Given the description of an element on the screen output the (x, y) to click on. 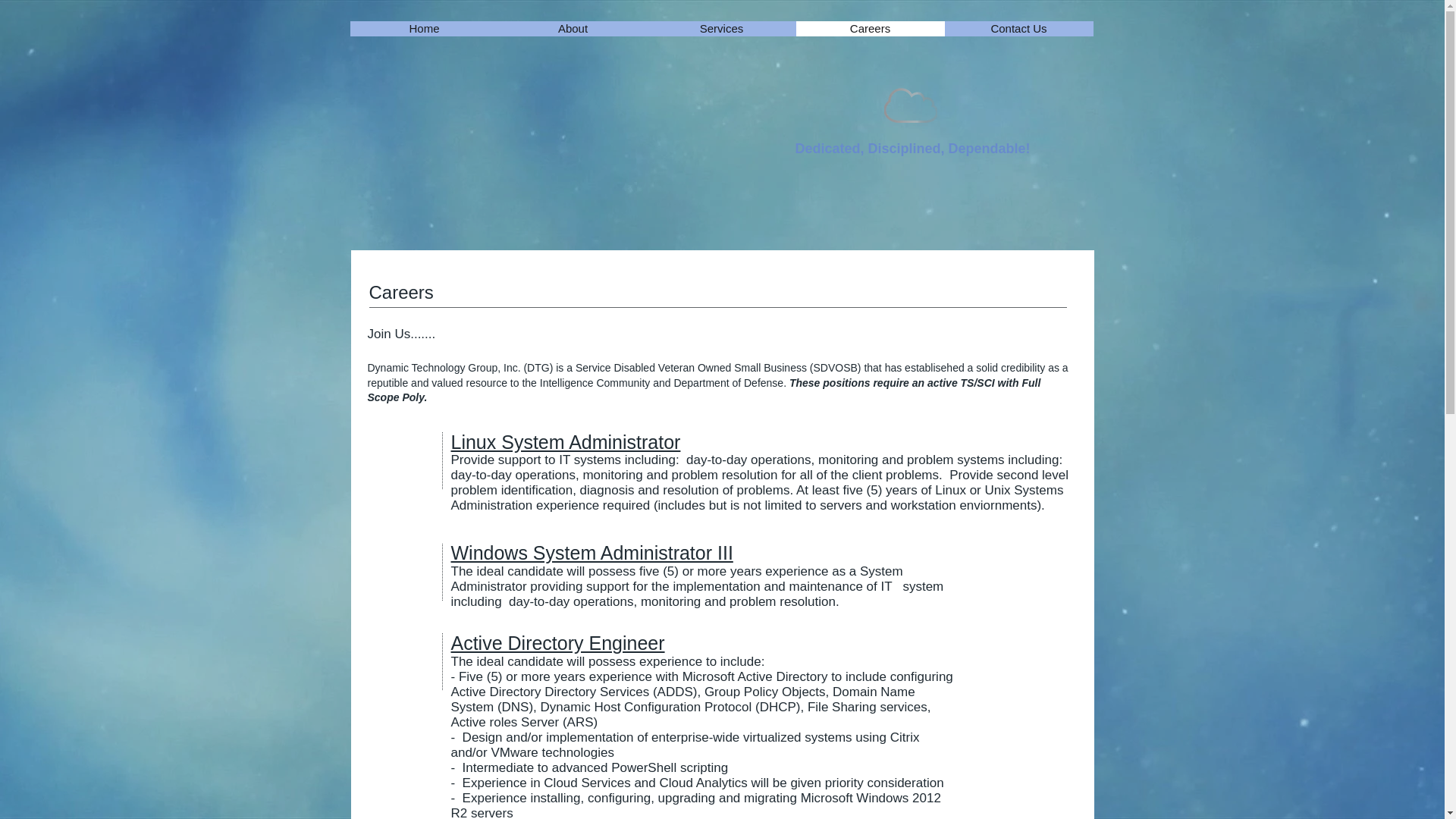
Windows System Administrator III (590, 552)
Services (721, 28)
Careers (870, 28)
Contact Us (1018, 28)
About (573, 28)
Active Directory Engineer (556, 642)
Home (424, 28)
Linux System Administrator (564, 441)
